Given the description of an element on the screen output the (x, y) to click on. 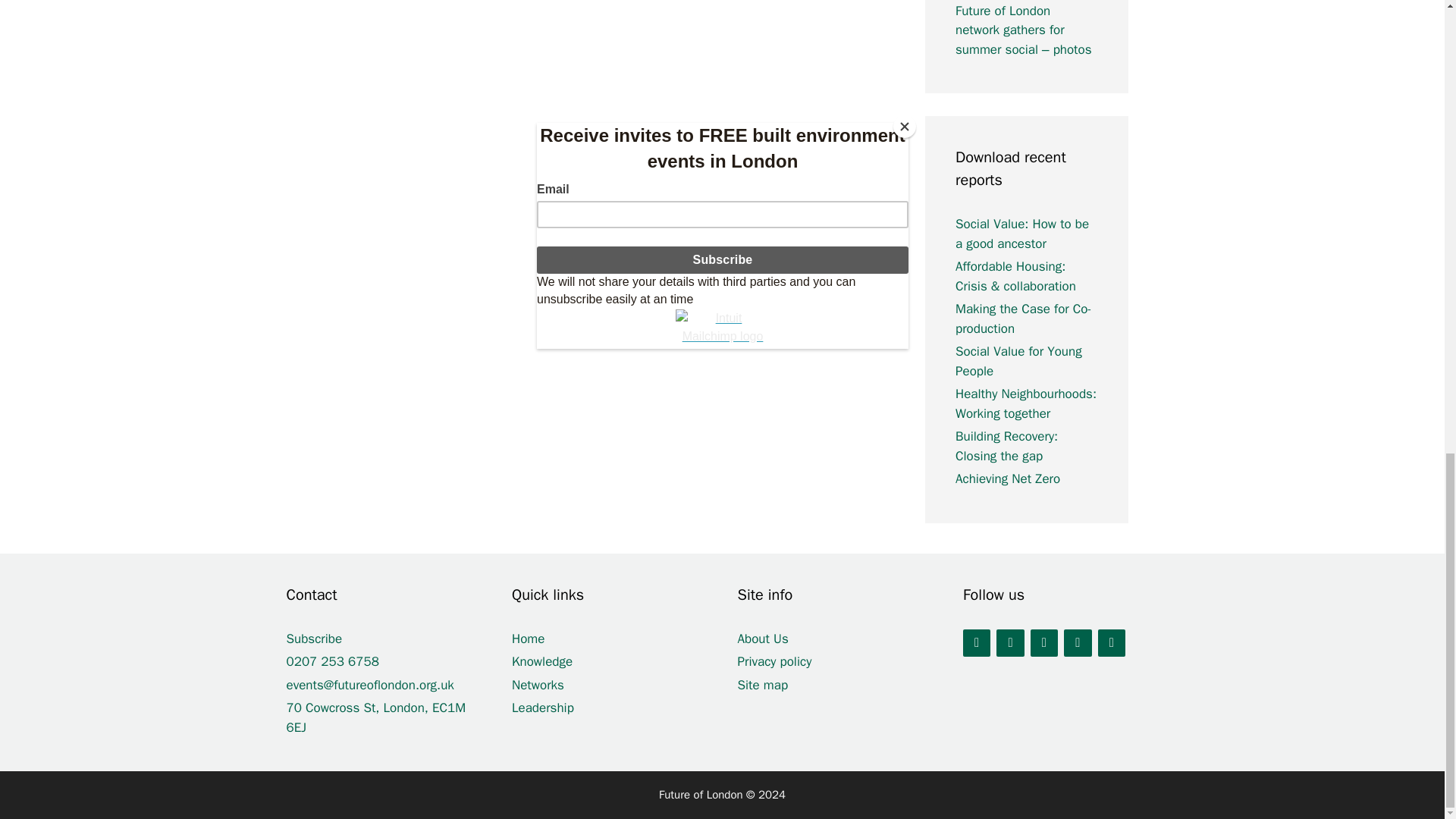
LinkedIn (1009, 642)
Building Recovery: Closing the gap (1006, 446)
Making the Case for Co-production (1023, 318)
Social Value for Young People (1018, 361)
Healthy Neighbourhoods: Working together (1025, 403)
Achieving Net Zero (1007, 478)
Social Value: How to be a good ancestor (1022, 233)
Instagram (1077, 642)
Twitter (976, 642)
YouTube (1044, 642)
